Given the description of an element on the screen output the (x, y) to click on. 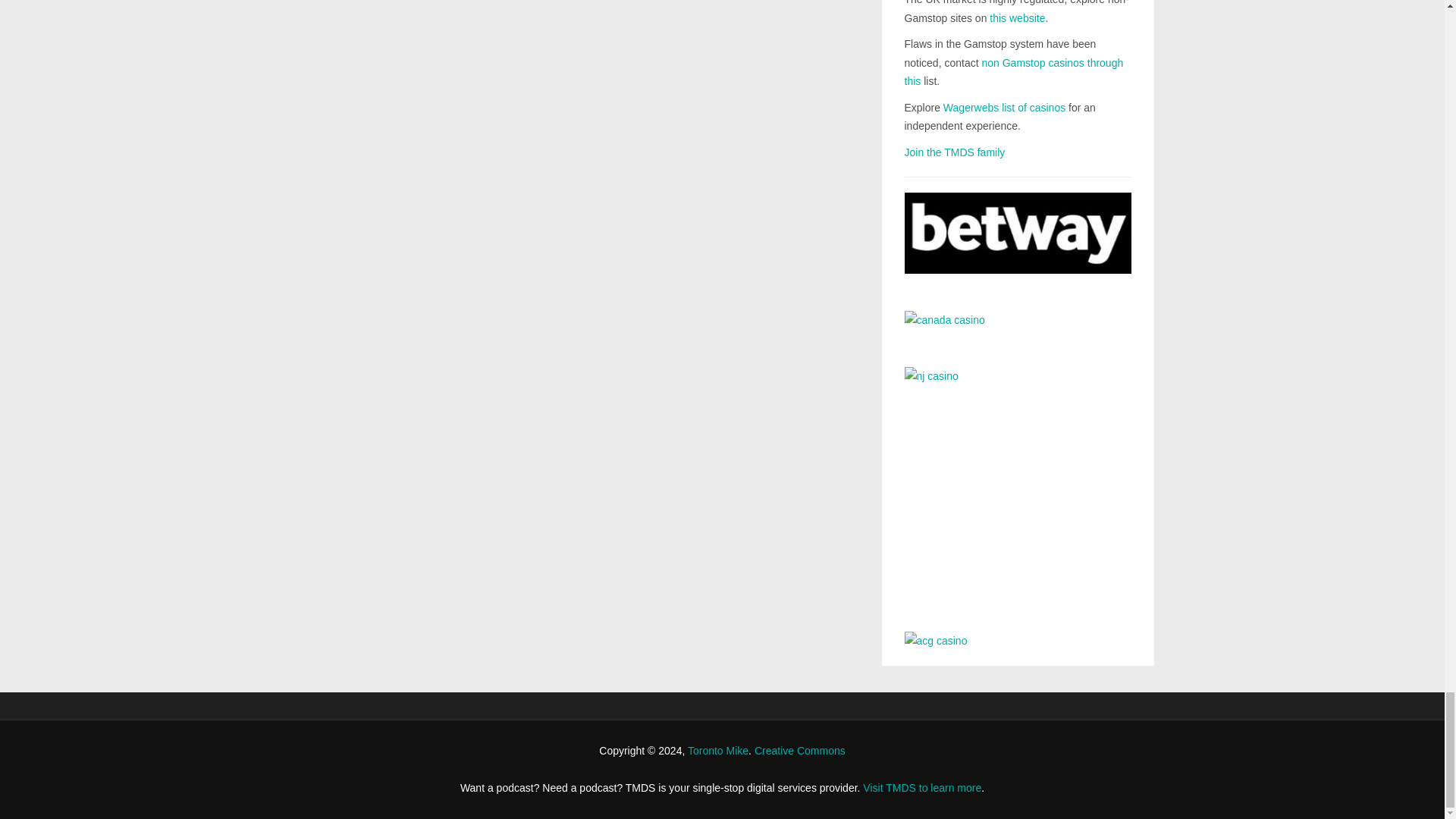
nj casino (1017, 487)
canada casino (1017, 327)
acg casino (1017, 640)
